Given the description of an element on the screen output the (x, y) to click on. 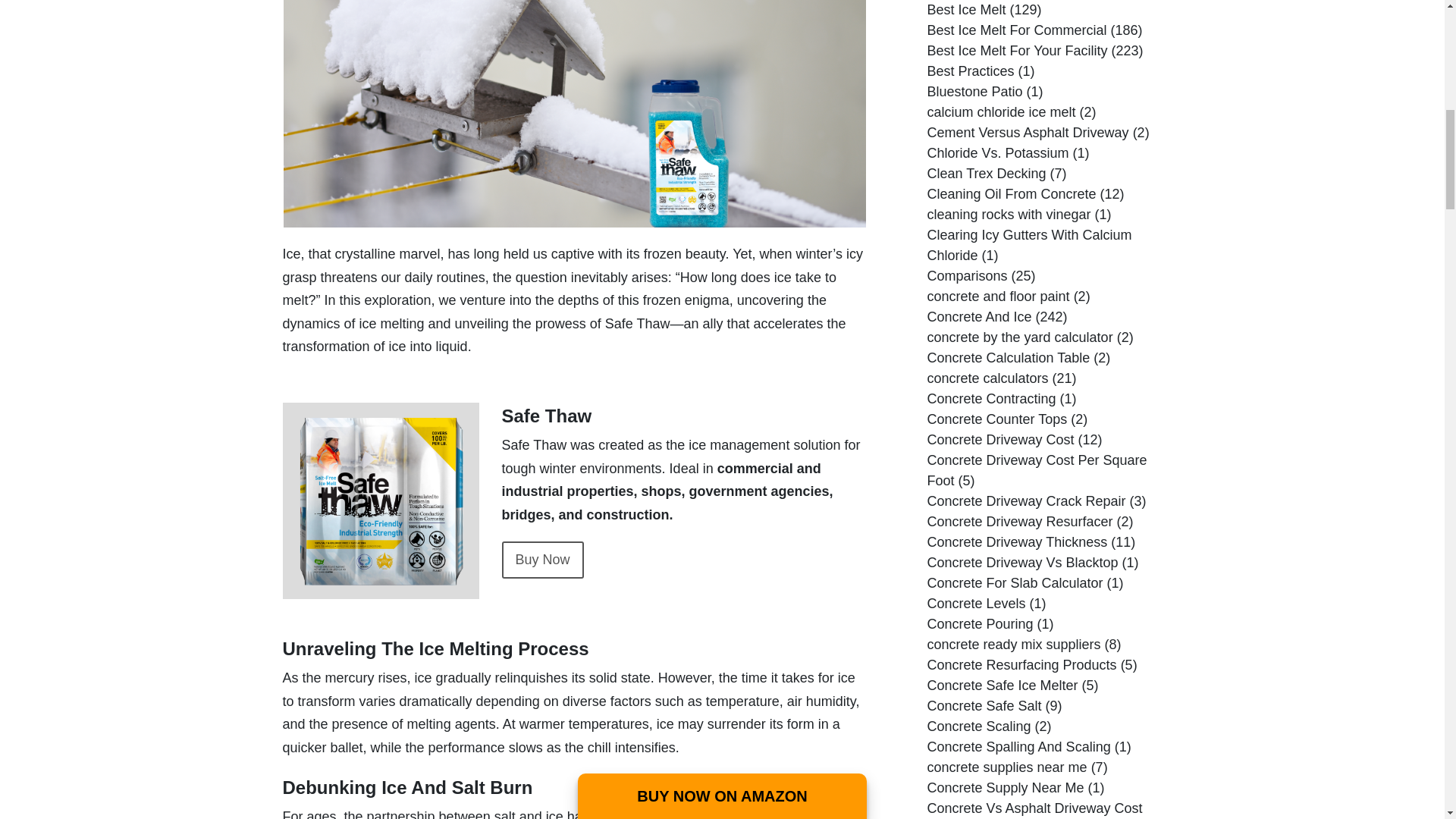
Buy Now (542, 559)
